Given the description of an element on the screen output the (x, y) to click on. 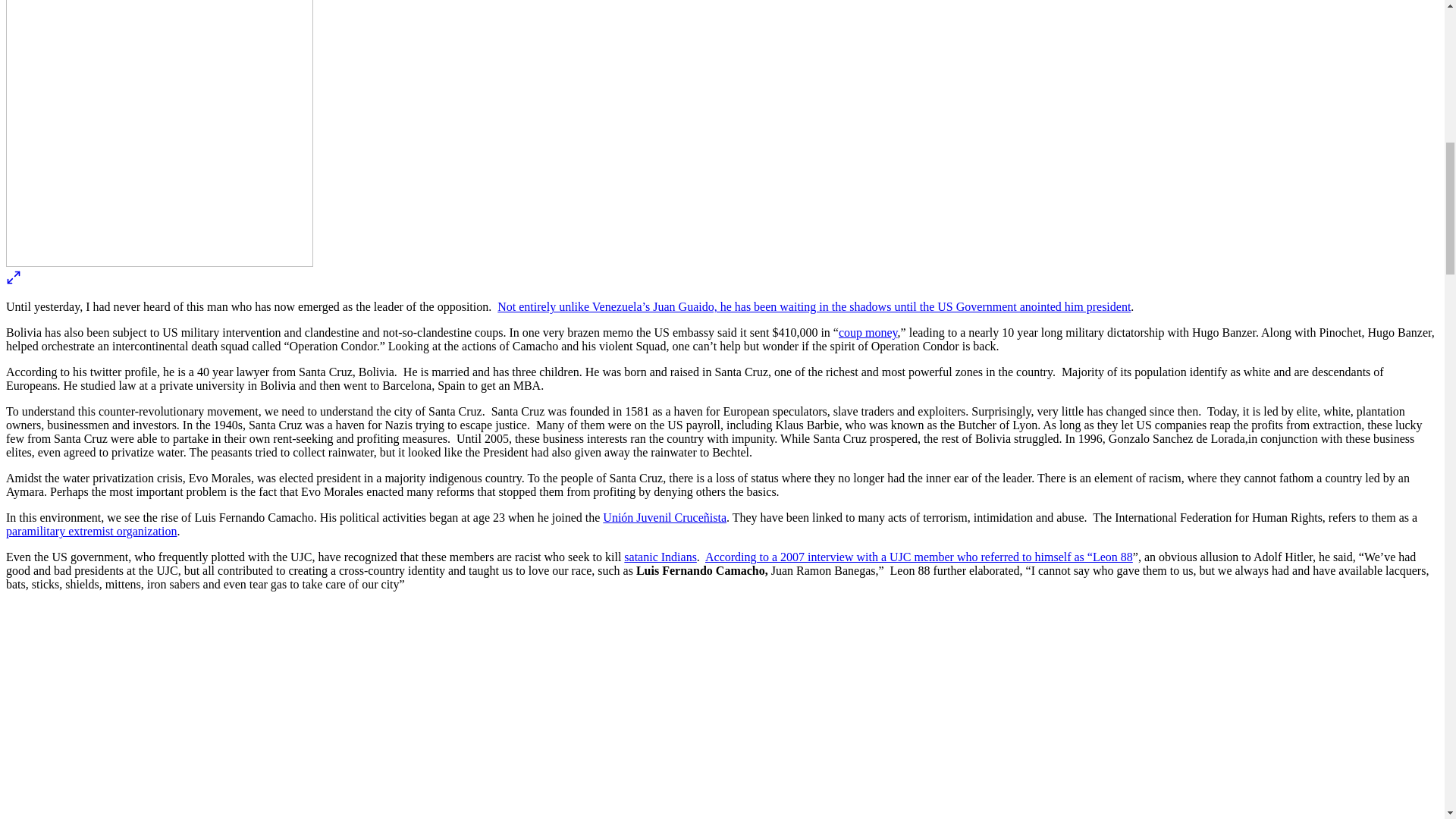
satanic Indians (660, 556)
paramilitary extremist organization (90, 530)
coup money (868, 332)
